Given the description of an element on the screen output the (x, y) to click on. 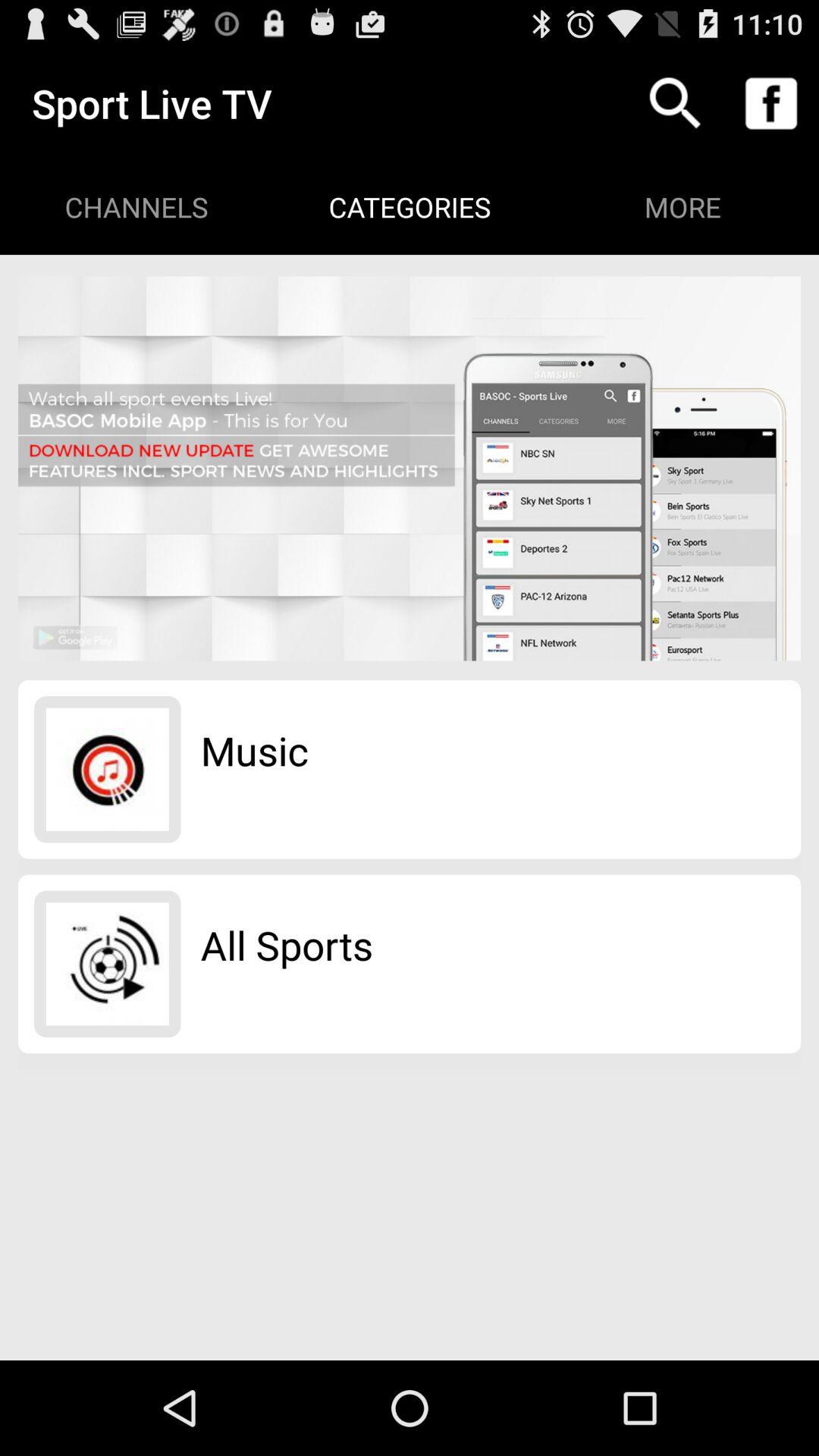
launch the app above all sports item (254, 750)
